Given the description of an element on the screen output the (x, y) to click on. 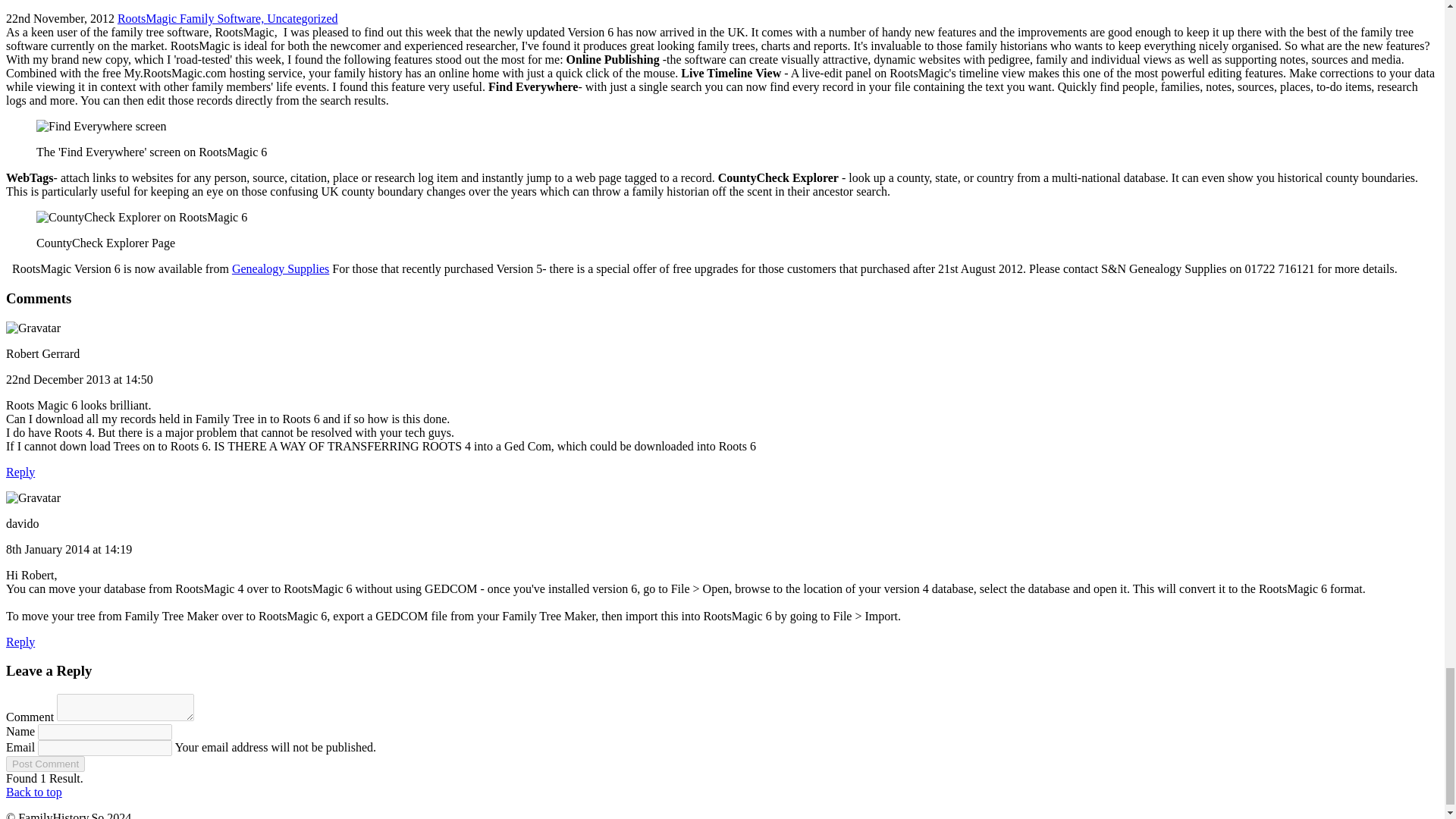
CountyCheckExplorer-300x225 (141, 217)
Genealogy Supplies (280, 268)
FindEverywhere-300x225 (101, 126)
